Given the description of an element on the screen output the (x, y) to click on. 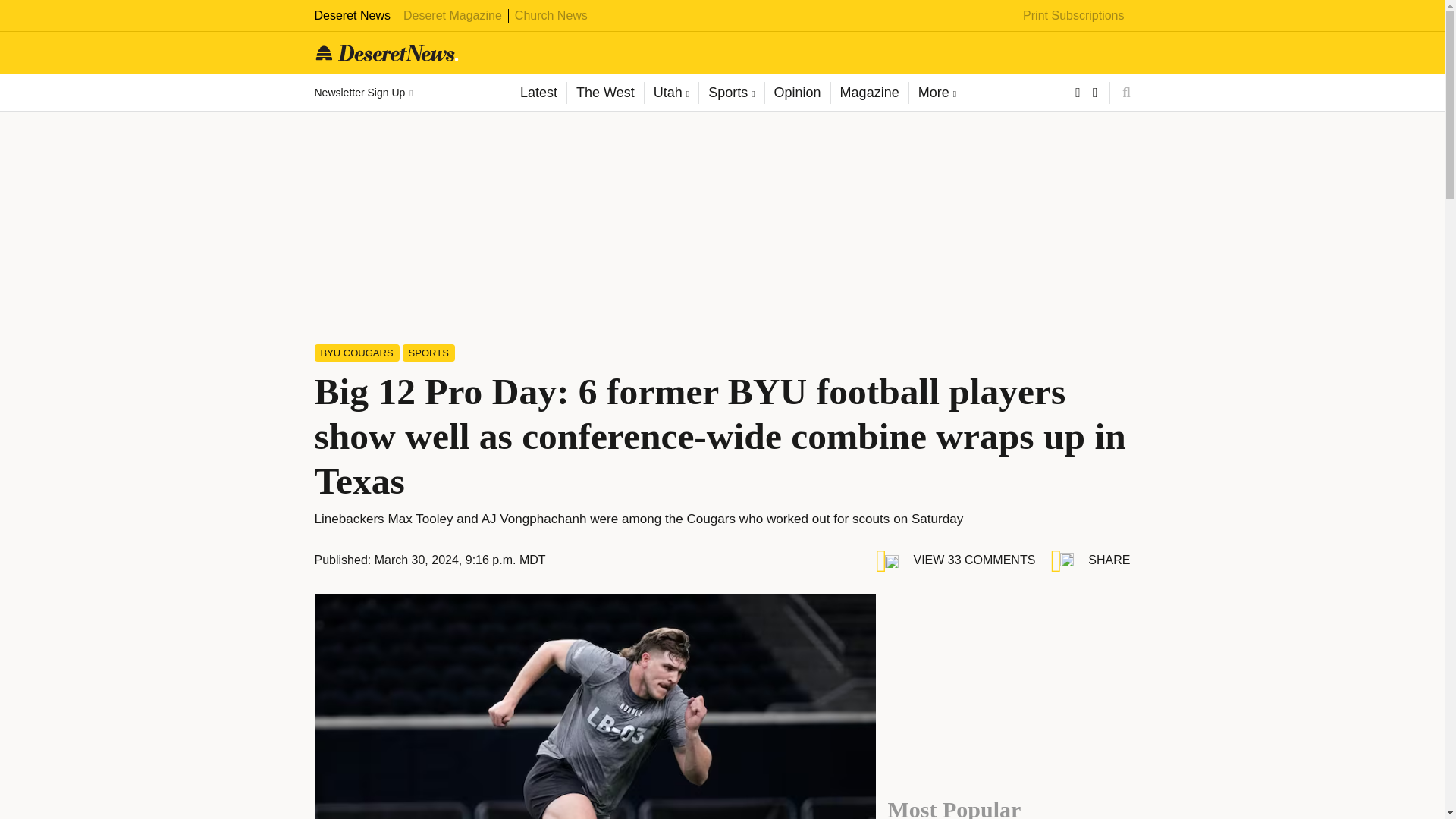
Deseret News (352, 15)
Deseret Magazine (452, 15)
Utah (670, 92)
Print Subscriptions (1073, 15)
Sports (730, 92)
Church News (551, 15)
Latest (538, 92)
Magazine (868, 92)
The West (604, 92)
Newsletter Sign Up (363, 92)
